Given the description of an element on the screen output the (x, y) to click on. 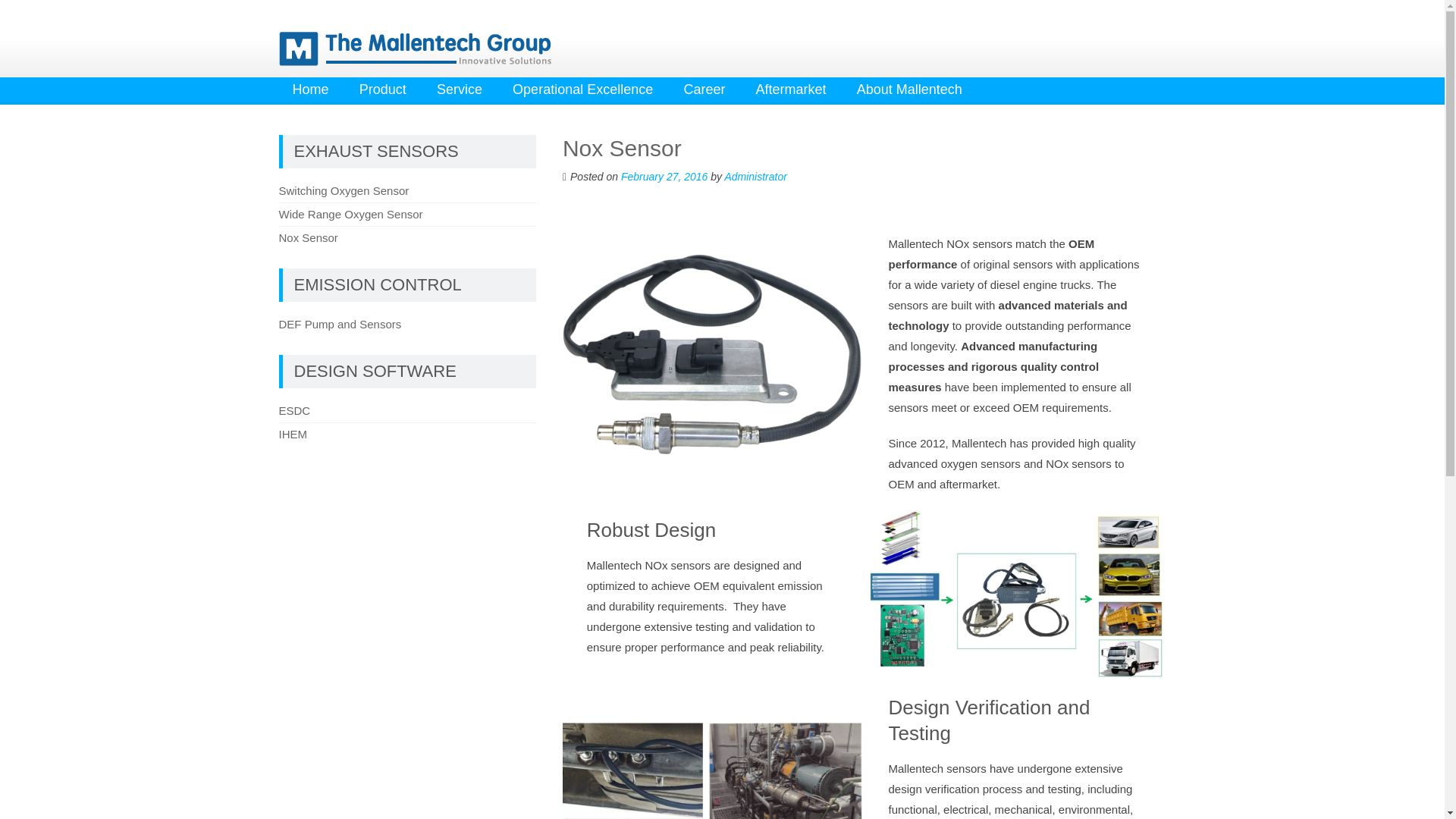
Operational Excellence (582, 89)
Switching Oxygen Sensor (344, 190)
Wide Range Oxygen Sensor (351, 214)
DEF Pump and Sensors (340, 323)
Product (383, 89)
February 27, 2016 (664, 176)
Aftermarket (791, 89)
Service (459, 89)
About Mallentech (909, 89)
Home (310, 89)
IHEM (293, 433)
Nox Sensor (308, 237)
Career (703, 89)
Administrator (754, 176)
ESDC (295, 410)
